Given the description of an element on the screen output the (x, y) to click on. 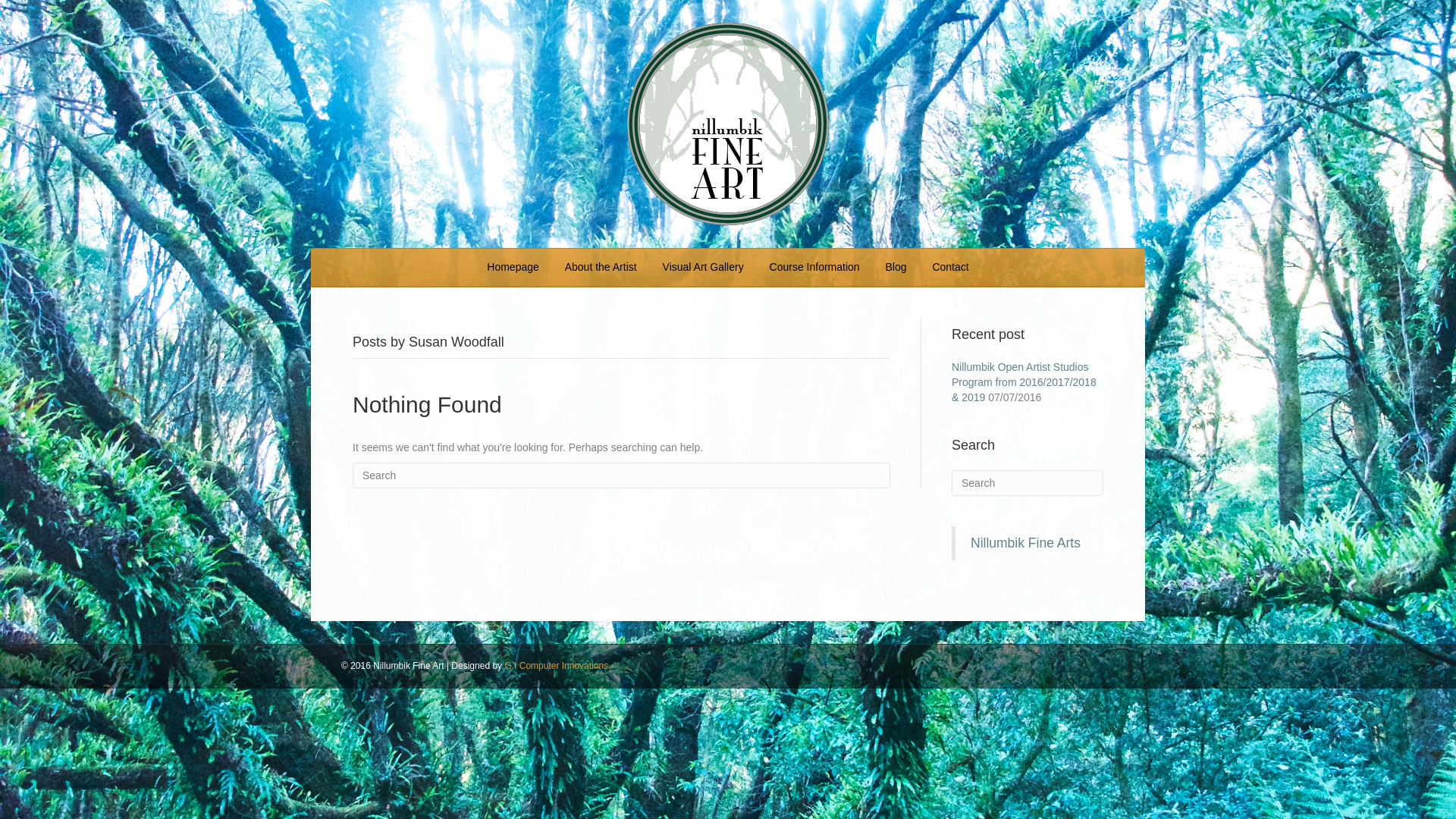
Type and press Enter to search. Element type: hover (1027, 482)
Type and press Enter to search. Element type: hover (621, 475)
Blog Element type: text (896, 267)
G.I Computer Innovations Element type: text (556, 665)
Course Information Element type: text (814, 267)
Homepage Element type: text (512, 267)
Nillumbik Fine Arts Element type: text (1025, 542)
About the Artist Element type: text (600, 267)
Visual Art Gallery Element type: text (703, 267)
Contact Element type: text (949, 267)
